Given the description of an element on the screen output the (x, y) to click on. 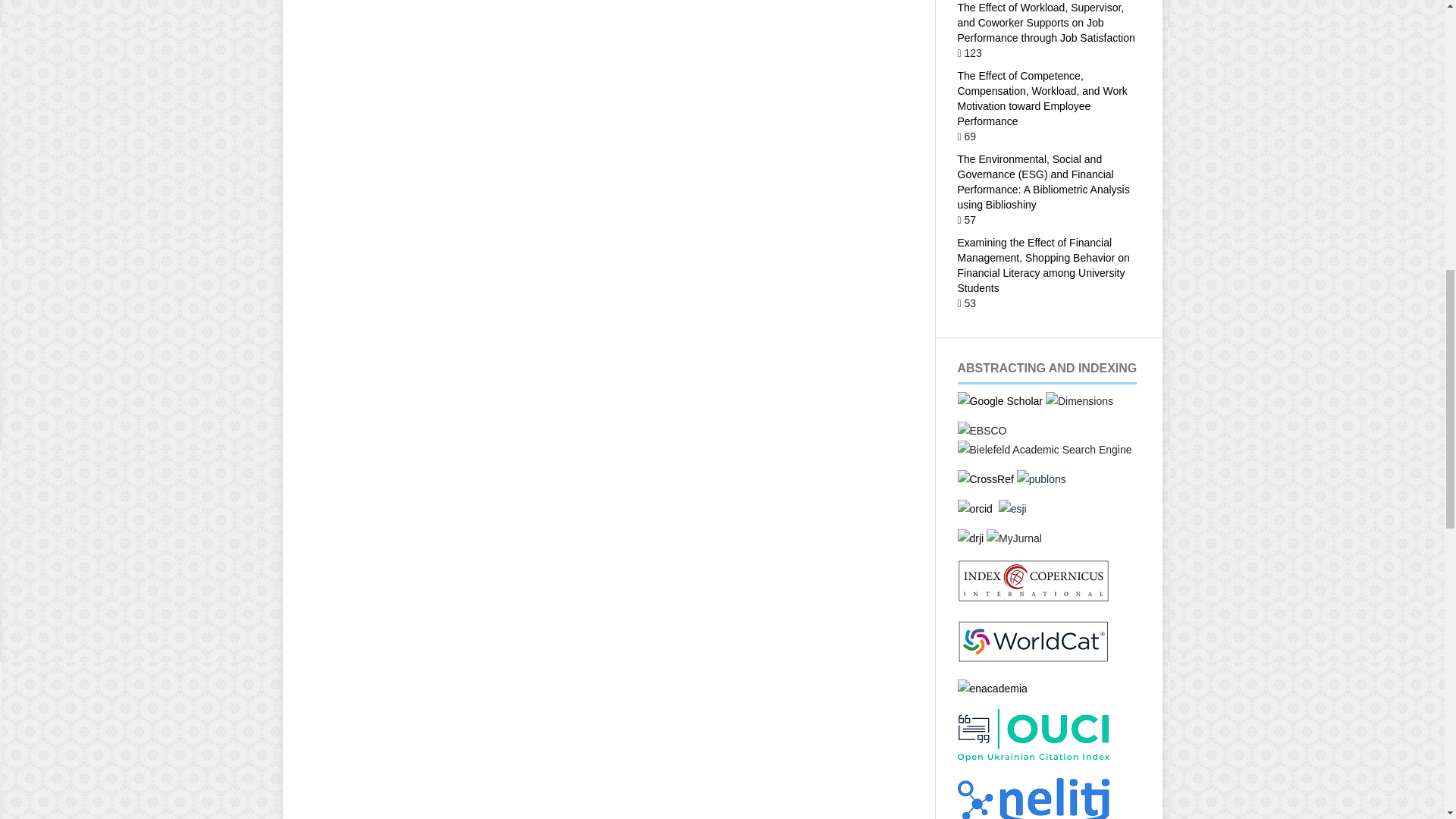
Copernicus (1032, 598)
CrossRef (984, 479)
WorldCat (1032, 658)
publons (1040, 479)
drji (970, 538)
OUCI Database (1032, 757)
esji (1012, 508)
